Given the description of an element on the screen output the (x, y) to click on. 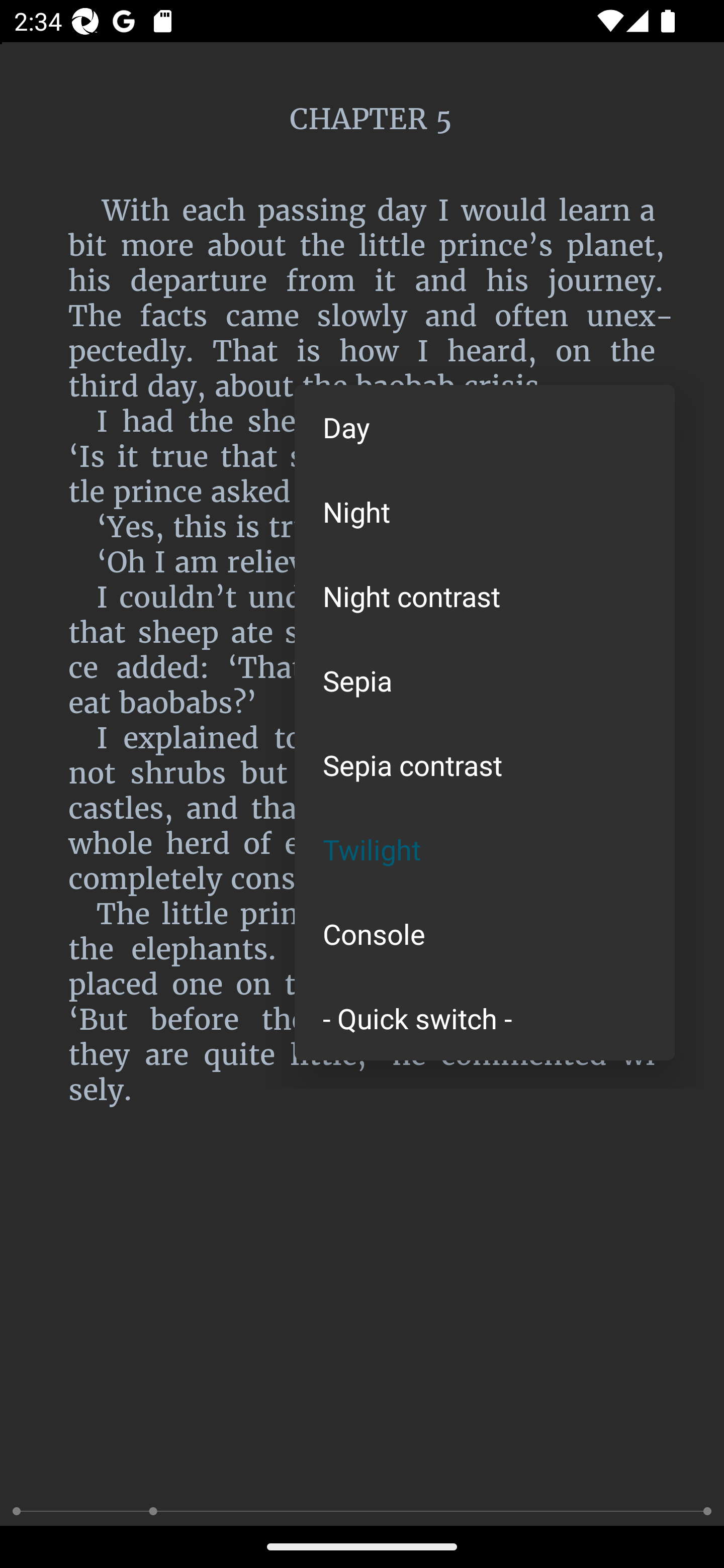
Day (484, 426)
Night (484, 510)
Night contrast (484, 595)
Sepia (484, 680)
Sepia contrast (484, 764)
Twilight (484, 849)
Console (484, 933)
- Quick switch - (484, 1017)
